Given the description of an element on the screen output the (x, y) to click on. 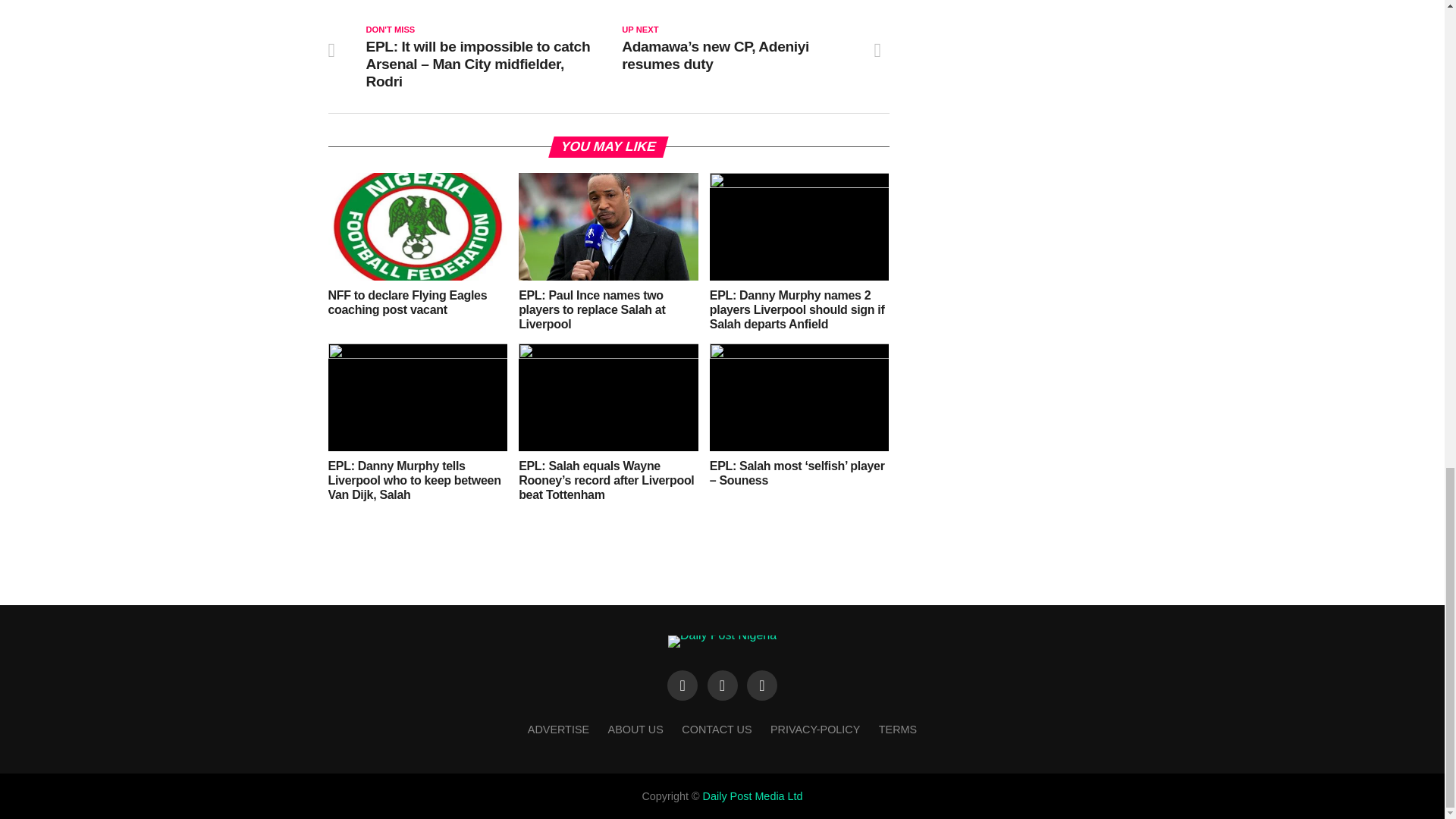
ADVERTISE (558, 729)
